Given the description of an element on the screen output the (x, y) to click on. 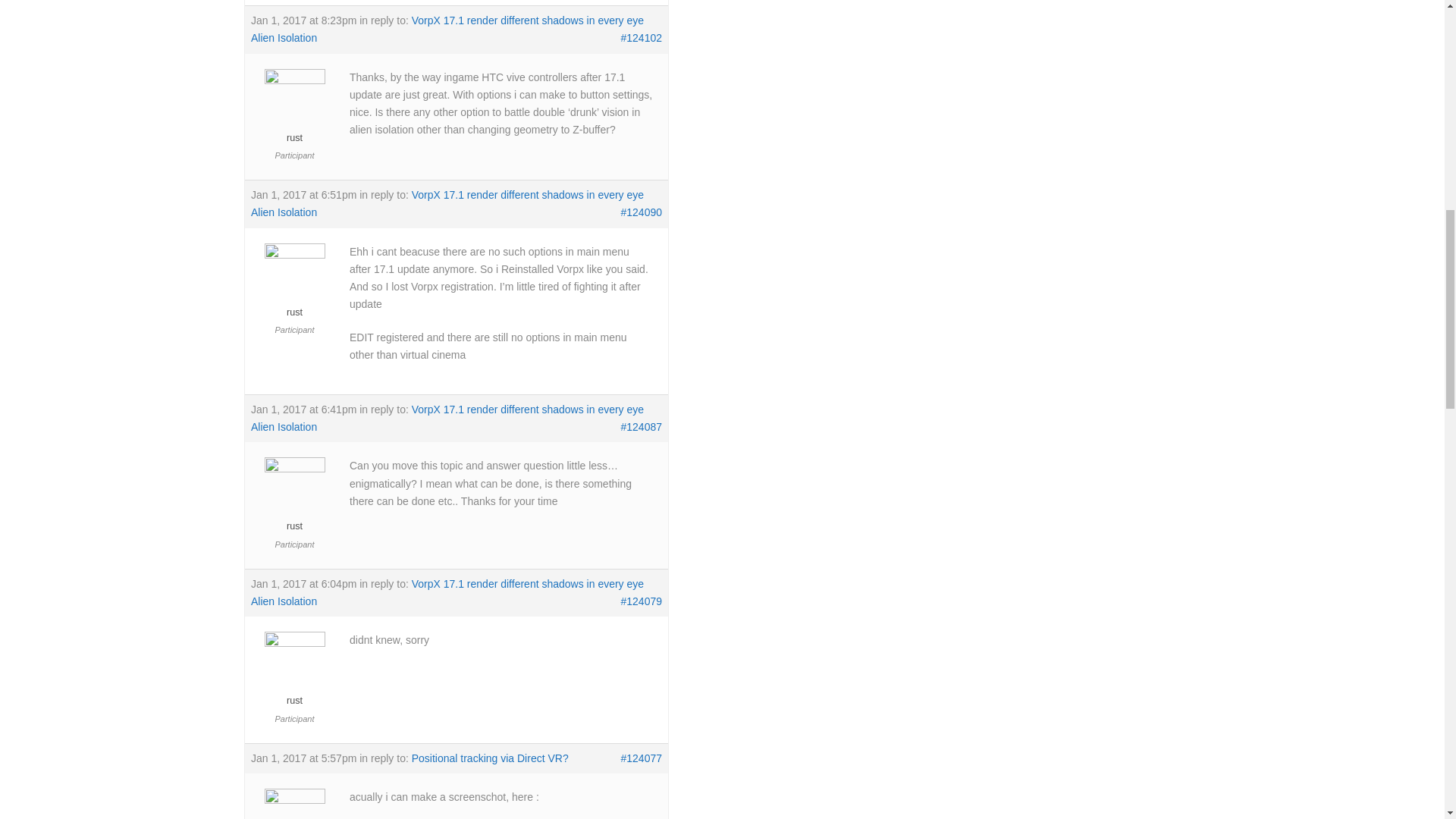
View rust's profile (293, 674)
View rust's profile (293, 499)
View rust's profile (293, 111)
rust (293, 111)
View rust's profile (293, 285)
View rust's profile (293, 807)
